Given the description of an element on the screen output the (x, y) to click on. 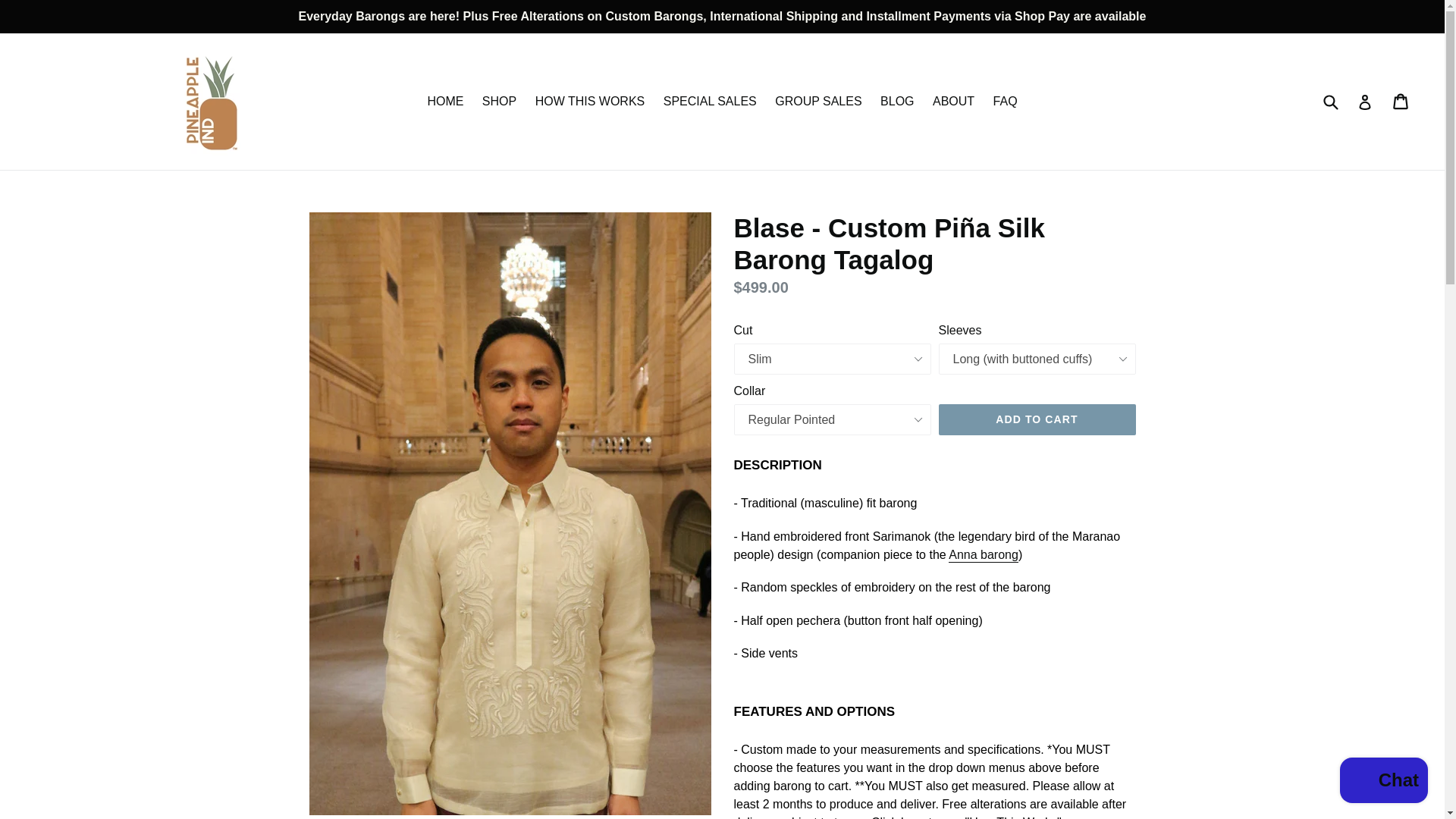
Shopify online store chat (1383, 781)
HOW THIS WORKS (589, 101)
SPECIAL SALES (710, 101)
Anna Barong (983, 554)
HOME (444, 101)
How This Works (965, 817)
GROUP SALES (818, 101)
SHOP (499, 101)
Anna barong (983, 554)
BLOG (896, 101)
ABOUT (952, 101)
FAQ (1005, 101)
ADD TO CART (1037, 419)
Click here to see "How This Works" (965, 817)
